Given the description of an element on the screen output the (x, y) to click on. 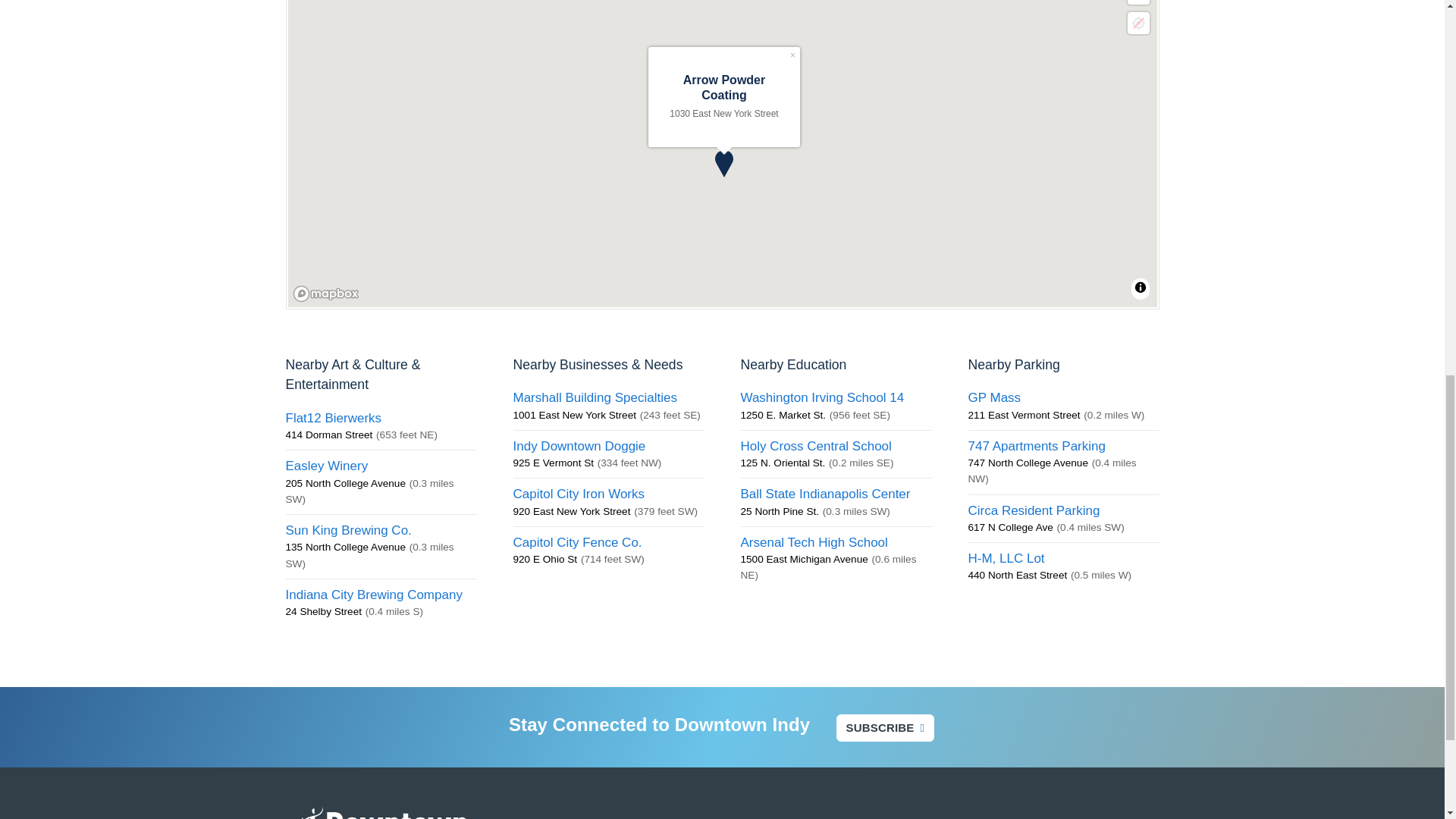
Find my location (1137, 23)
Reset bearing to north (1137, 2)
